Given the description of an element on the screen output the (x, y) to click on. 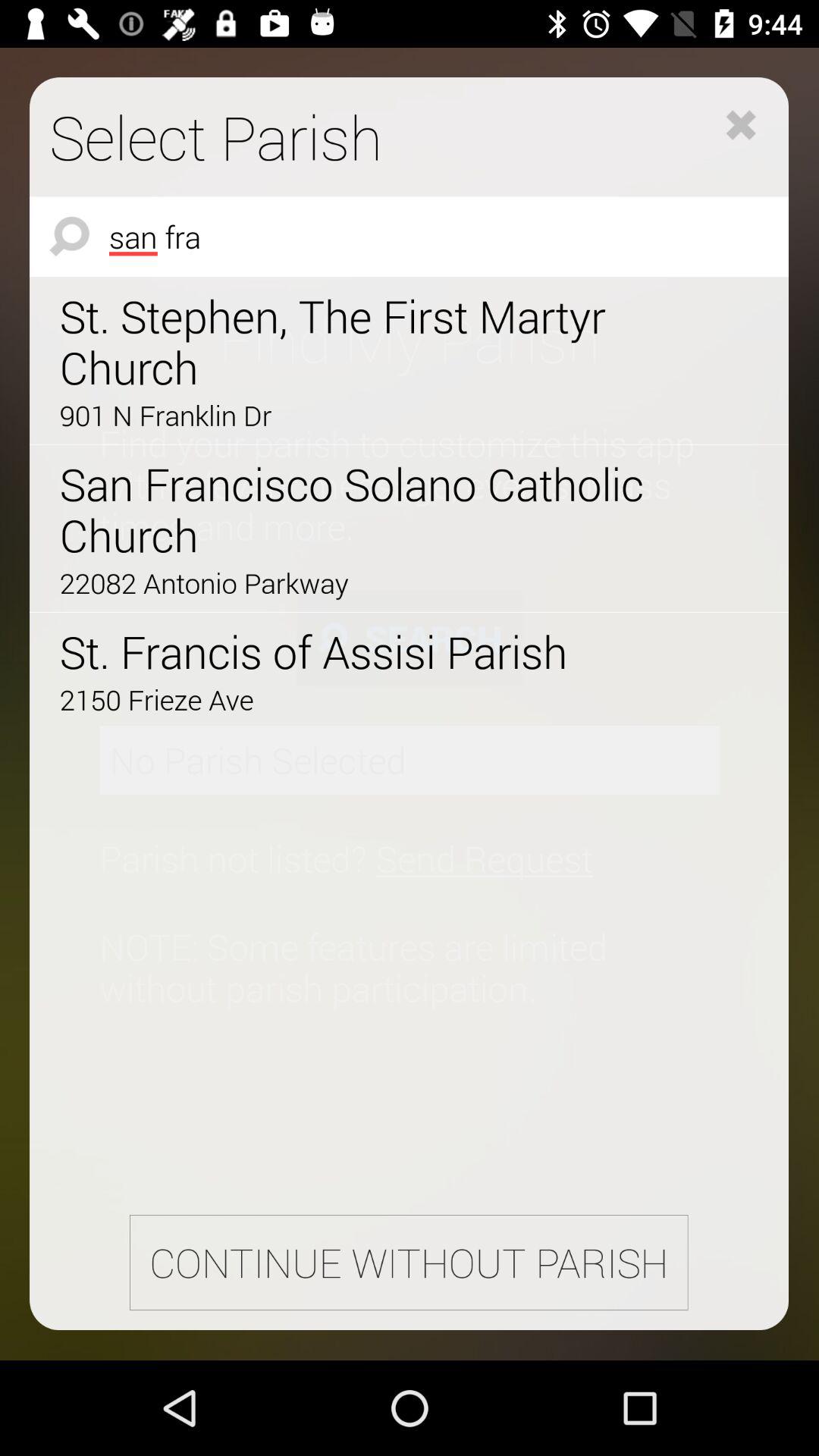
tap 2150 frieze ave (366, 699)
